Given the description of an element on the screen output the (x, y) to click on. 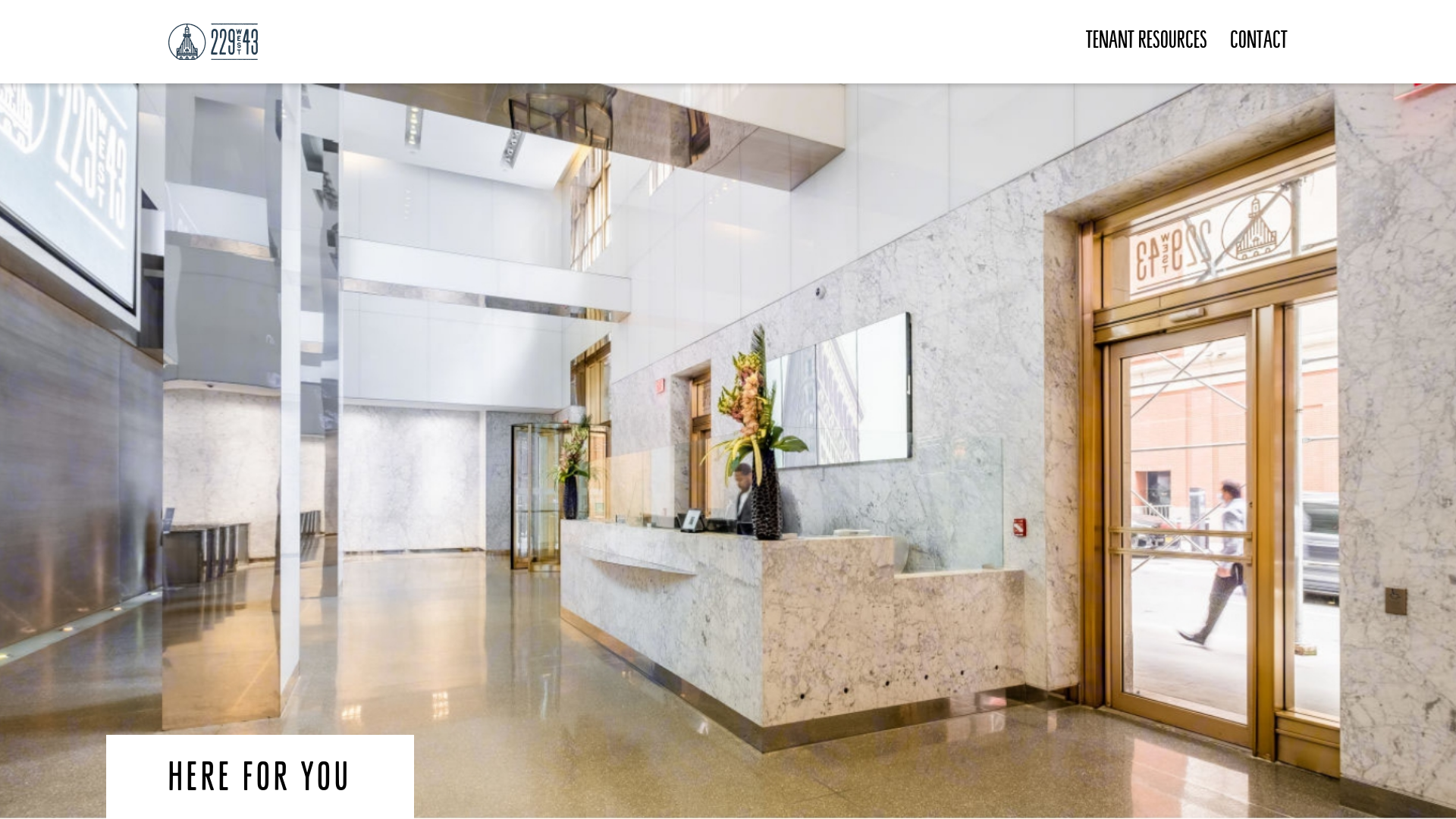
TENANT RESOURCES Element type: text (1146, 41)
